Given the description of an element on the screen output the (x, y) to click on. 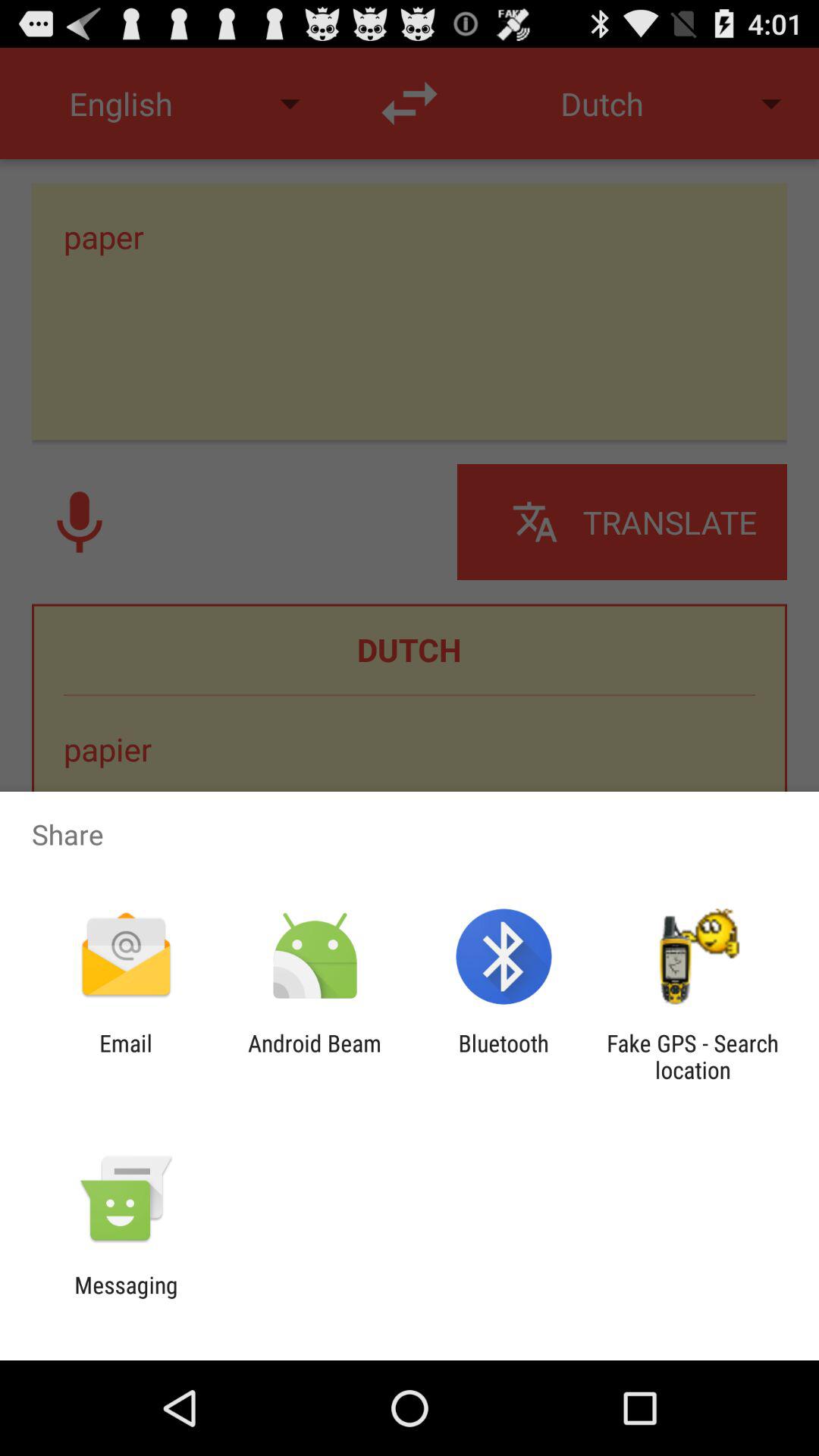
open the icon next to android beam item (503, 1056)
